Given the description of an element on the screen output the (x, y) to click on. 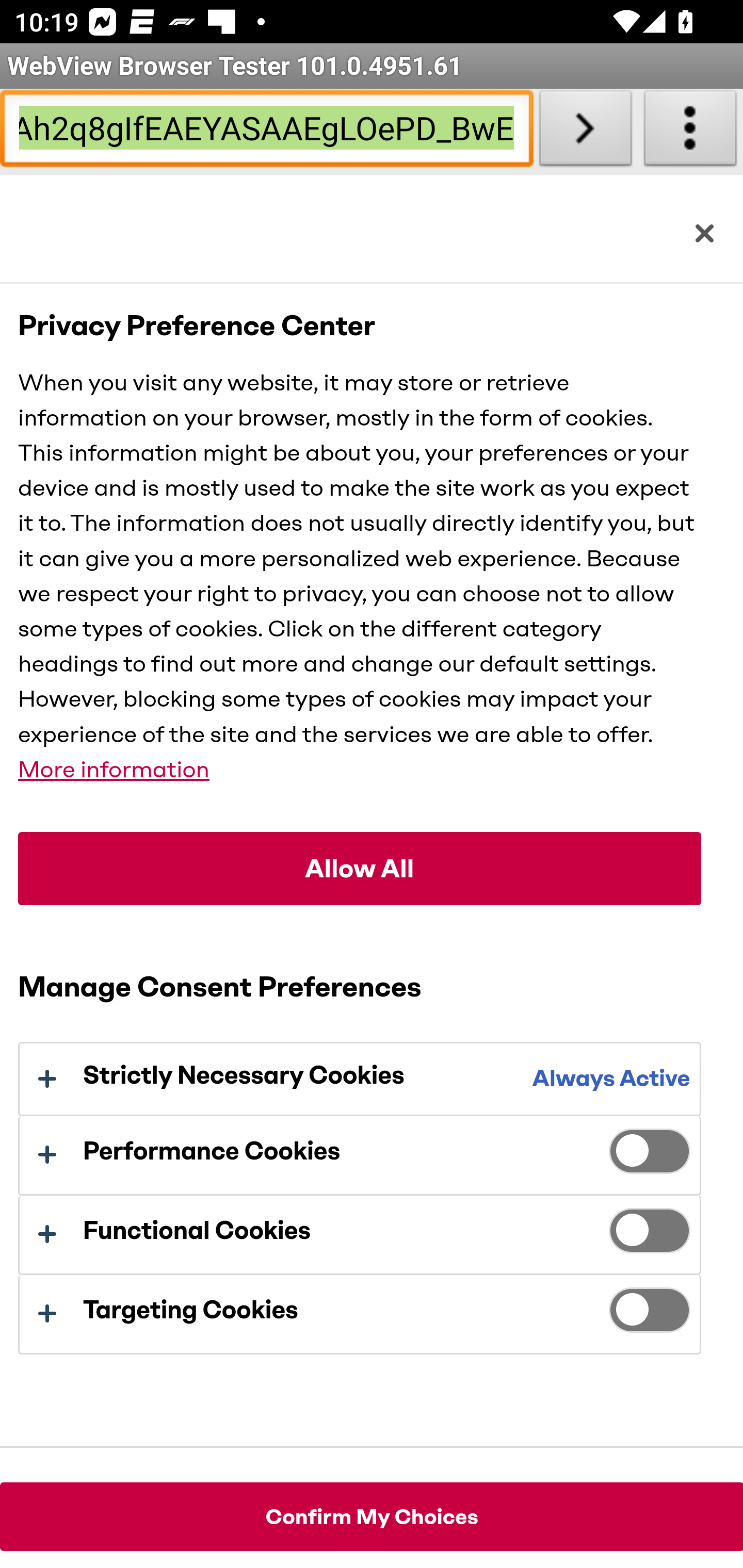
Load URL (585, 132)
About WebView (690, 132)
